Given the description of an element on the screen output the (x, y) to click on. 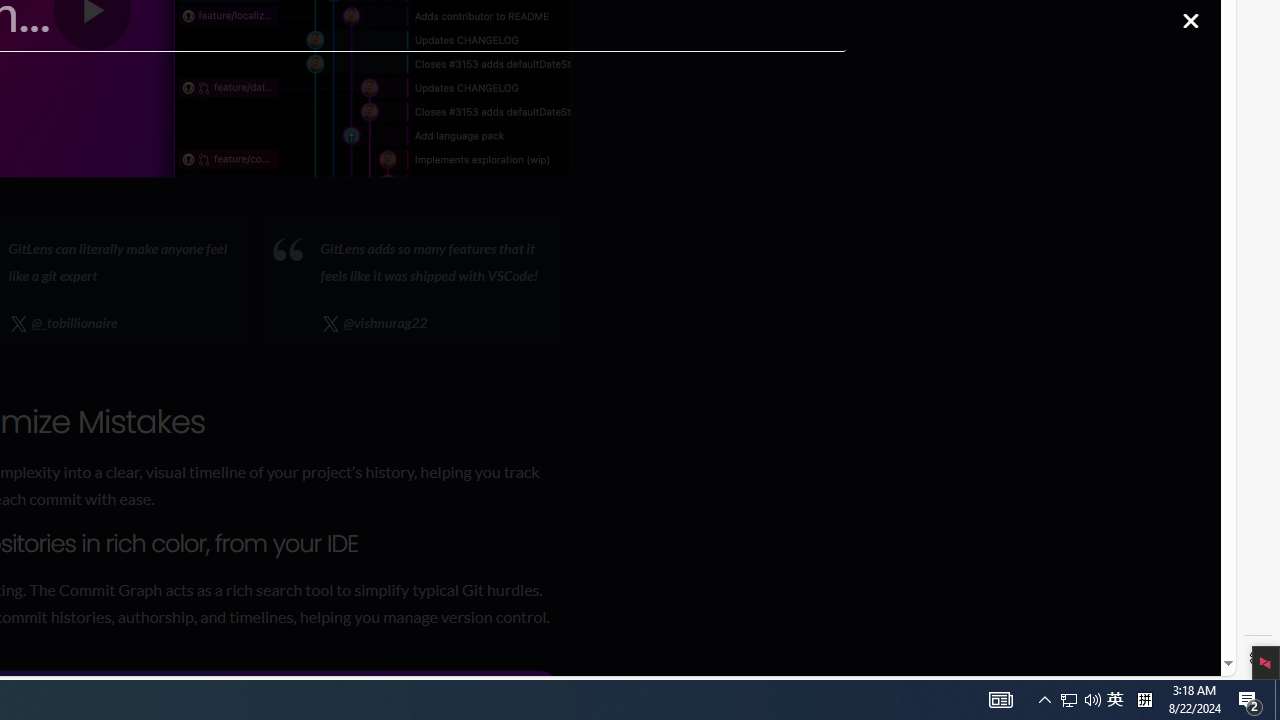
Close this search box. (1190, 20)
